Given the description of an element on the screen output the (x, y) to click on. 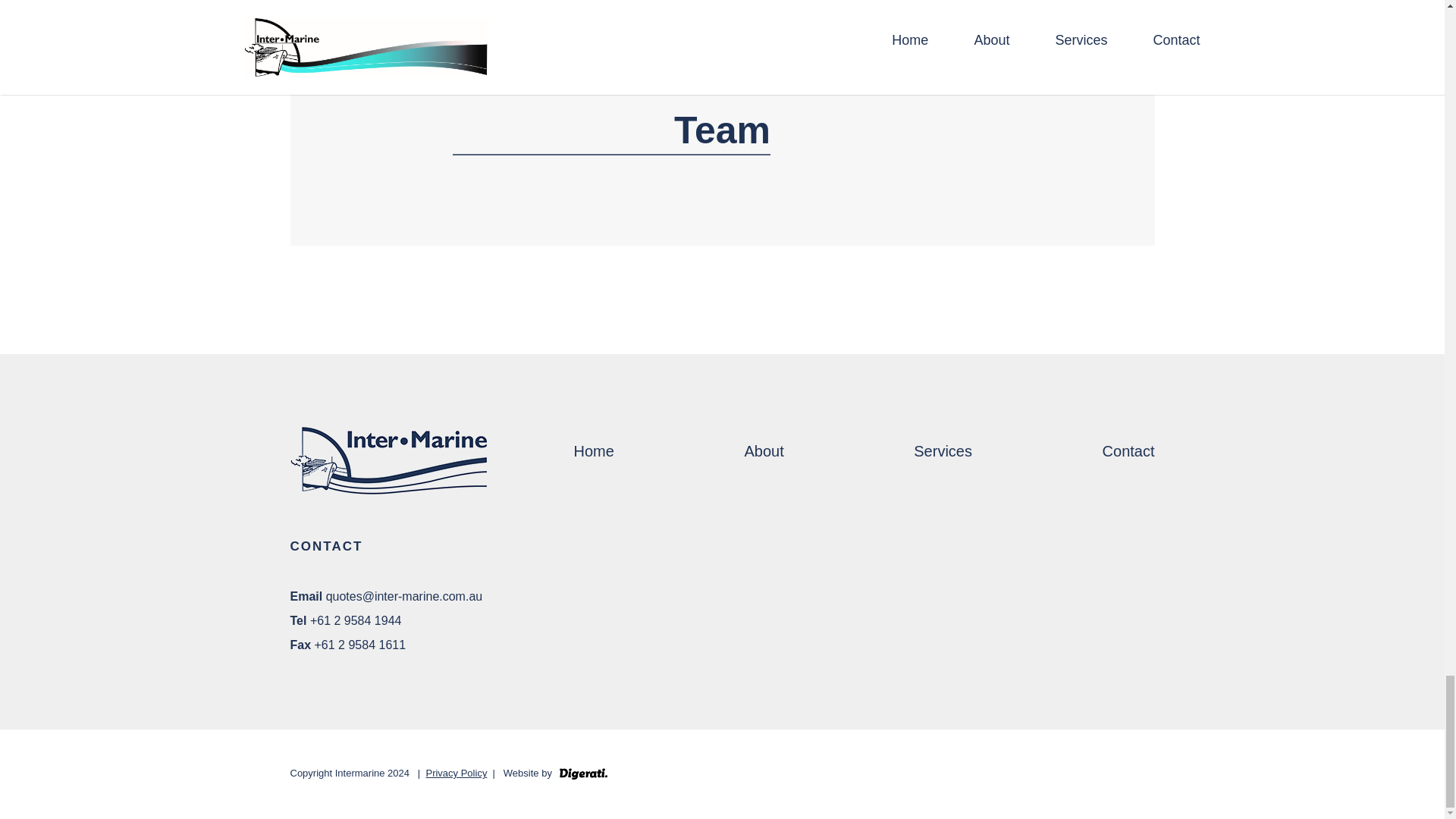
Contact (1128, 451)
Privacy Policy (455, 773)
Home (592, 451)
About (763, 451)
Services (943, 451)
Get in touch with our Projects Team (721, 101)
